Given the description of an element on the screen output the (x, y) to click on. 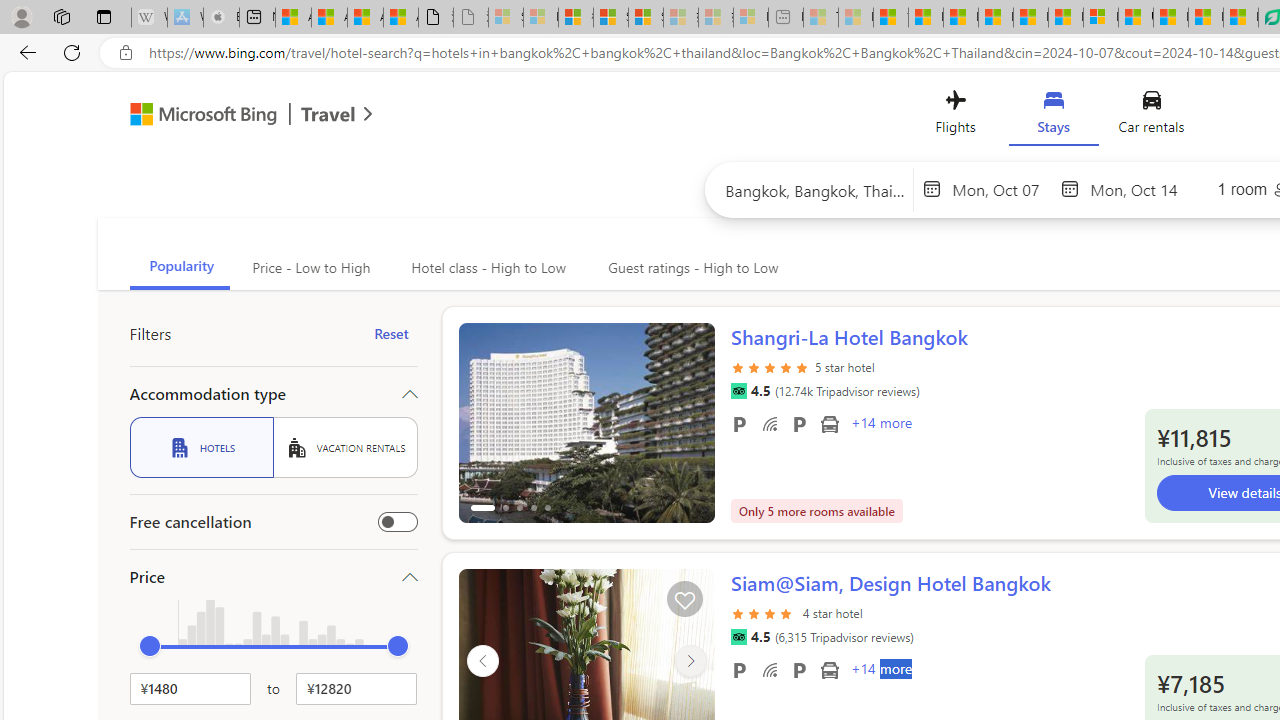
Reset (391, 333)
Sign in to your Microsoft account - Sleeping (506, 17)
Free WiFi (769, 669)
Accommodation type (273, 393)
ScrollLeft (482, 660)
Start Date (1001, 188)
Tripadvisor (738, 637)
Microsoft account | Account Checkup - Sleeping (750, 17)
Food and Drink - MSN (925, 17)
VACATION RENTALS (345, 447)
